Given the description of an element on the screen output the (x, y) to click on. 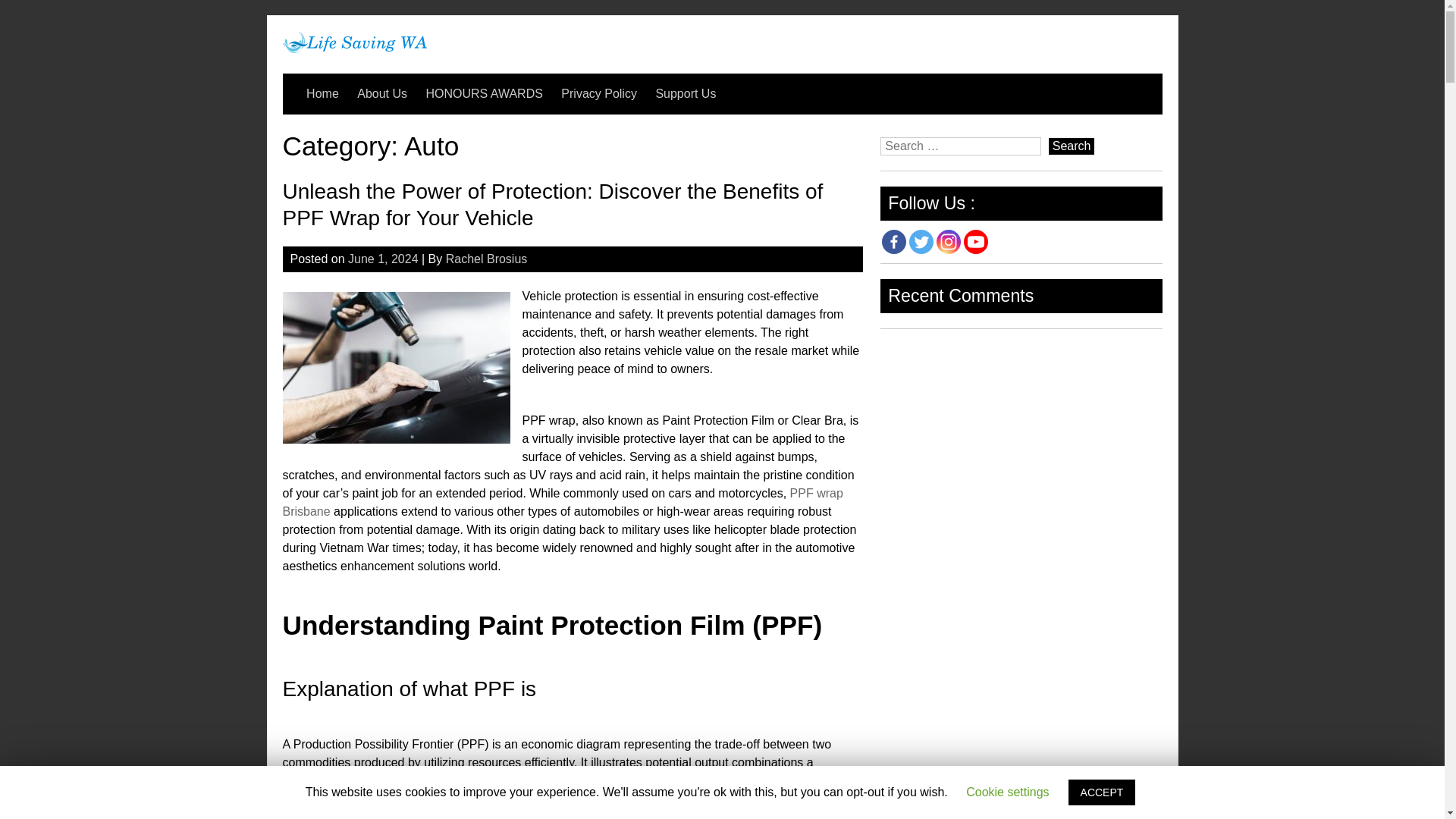
About Us (381, 93)
Privacy Policy (598, 93)
Twitter (920, 241)
Rachel Brosius (486, 258)
June 1, 2024 (383, 258)
PPF wrap Brisbane (562, 501)
Search (1071, 146)
HONOURS AWARDS (484, 93)
Youtube Channel (975, 241)
